Given the description of an element on the screen output the (x, y) to click on. 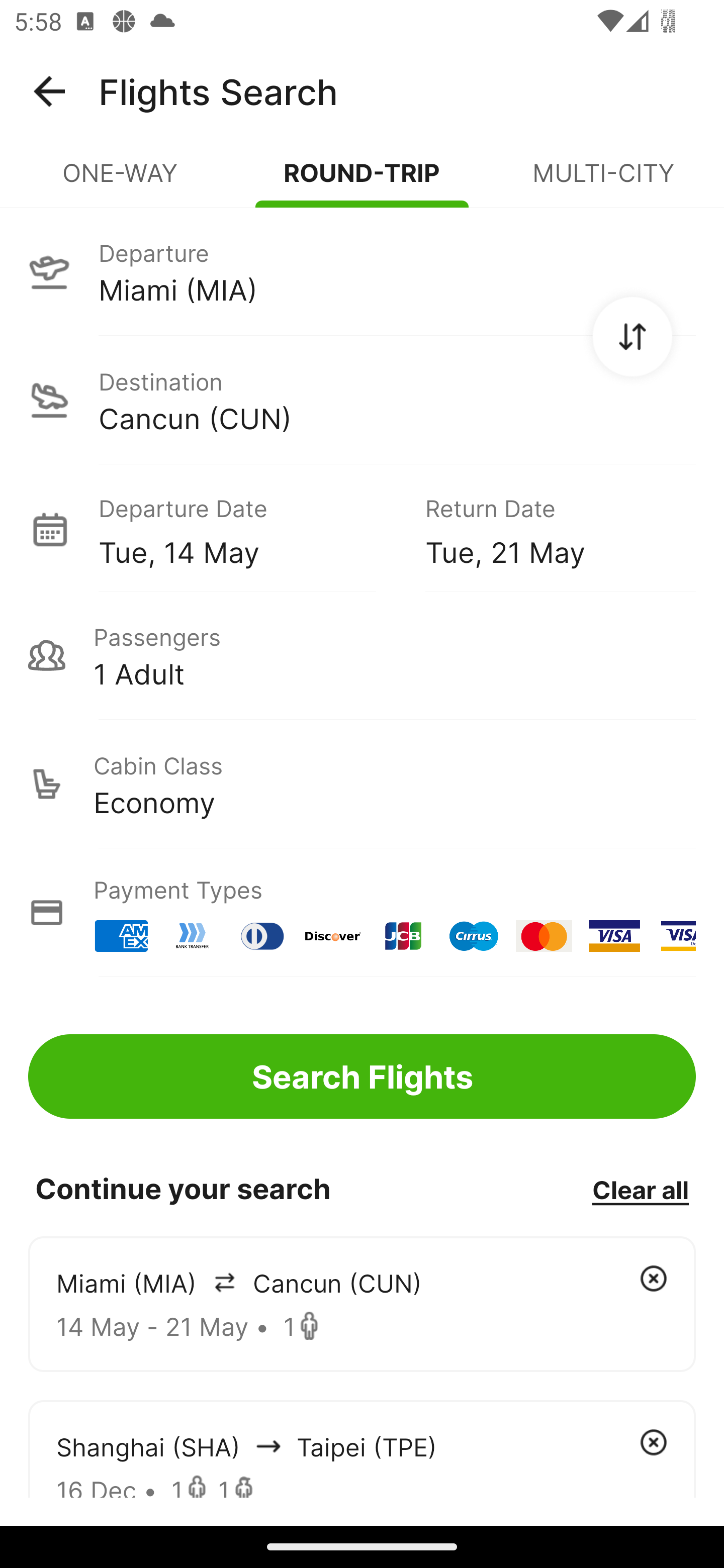
ONE-WAY (120, 180)
ROUND-TRIP (361, 180)
MULTI-CITY (603, 180)
Departure Miami (MIA) (362, 270)
Destination Cancun (CUN) (362, 400)
Departure Date Tue, 14 May (247, 528)
Return Date Tue, 21 May (546, 528)
Passengers 1 Adult (362, 655)
Cabin Class Economy (362, 783)
Payment Types (362, 912)
Search Flights (361, 1075)
Clear all (640, 1189)
